Given the description of an element on the screen output the (x, y) to click on. 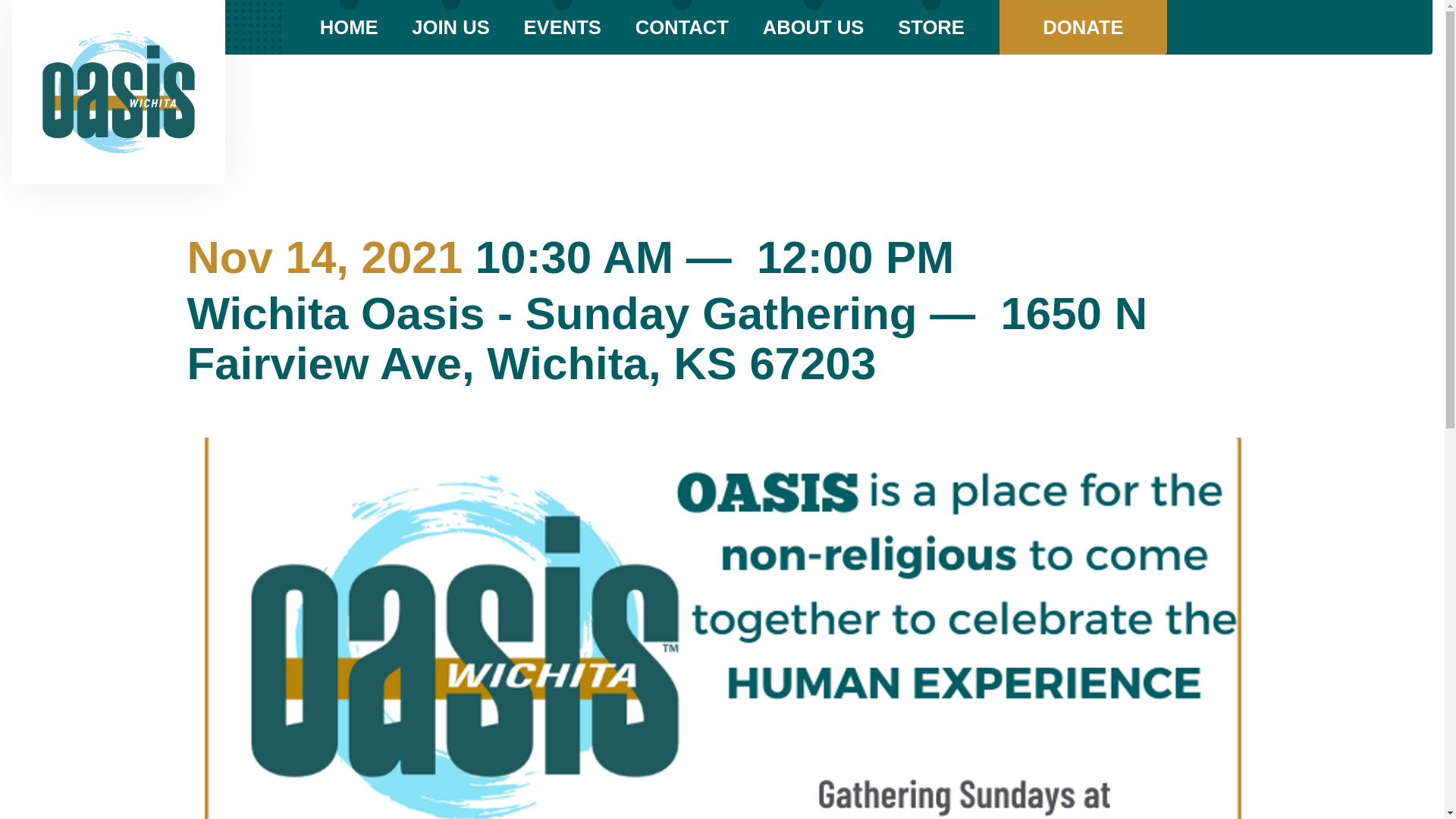
HOME (349, 27)
CONTACT (681, 27)
DONATE (1082, 27)
STORE (930, 27)
EVENTS (562, 27)
JOIN US (450, 27)
ABOUT US (813, 27)
